Given the description of an element on the screen output the (x, y) to click on. 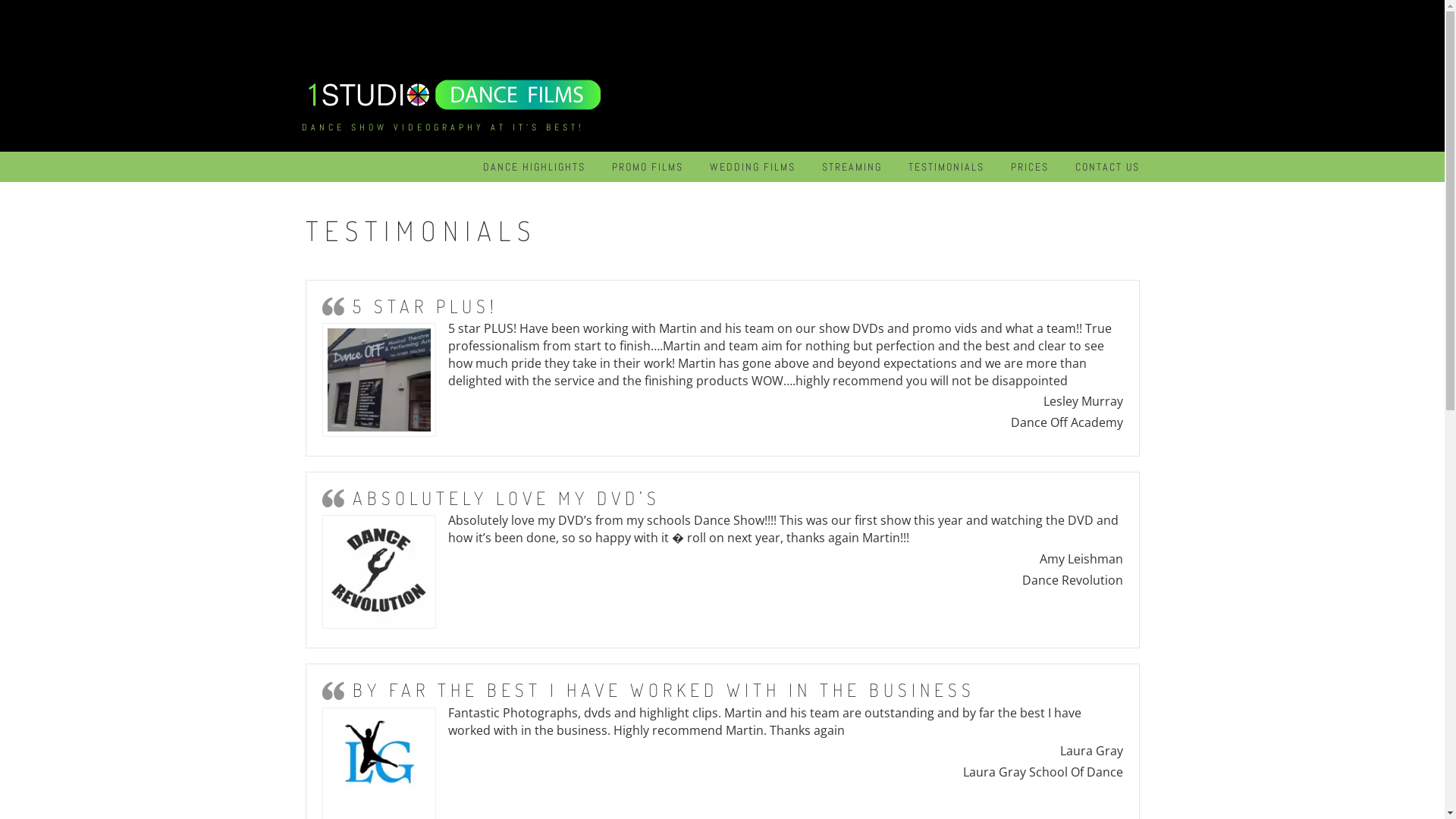
CONTACT US Element type: text (1107, 166)
DANCE HIGHLIGHTS Element type: text (533, 166)
TESTIMONIALS Element type: text (946, 166)
WEDDING FILMS Element type: text (752, 166)
PROMO FILMS Element type: text (646, 166)
PRICES Element type: text (1029, 166)
STREAMING Element type: text (851, 166)
